Given the description of an element on the screen output the (x, y) to click on. 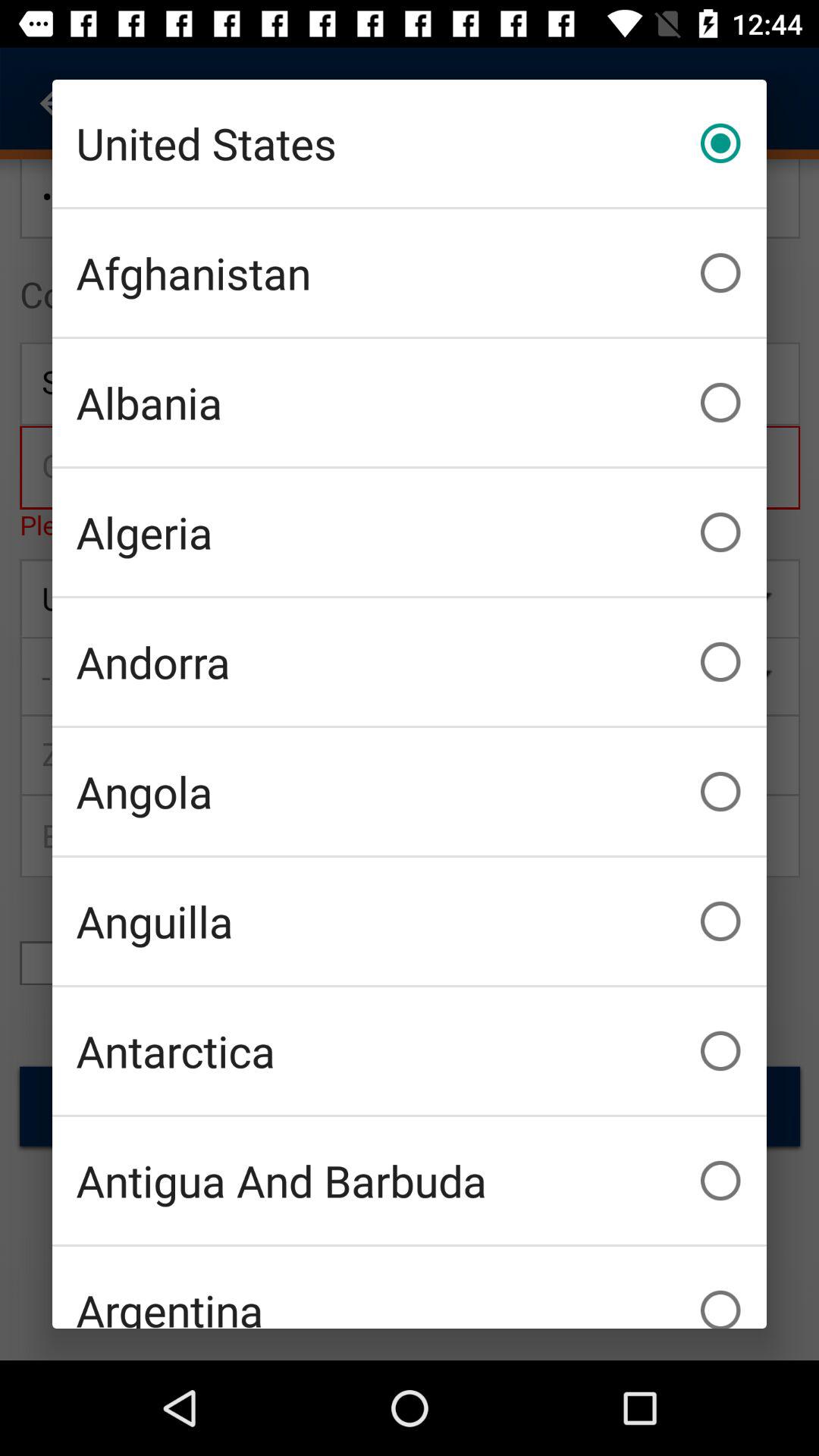
flip to the albania icon (409, 402)
